Given the description of an element on the screen output the (x, y) to click on. 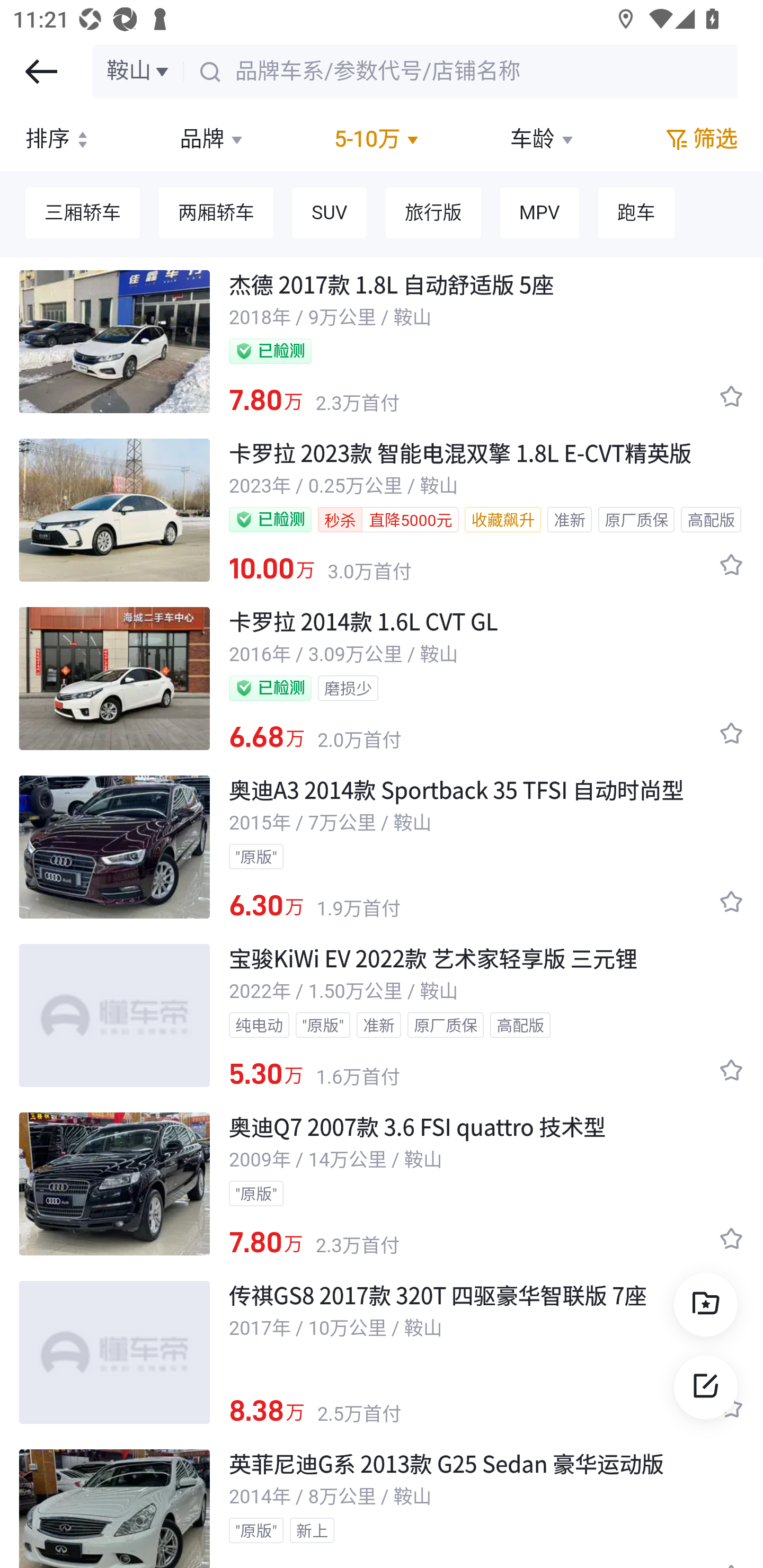
鞍山 (139, 70)
排序 (59, 139)
品牌 (213, 139)
5-10万 (378, 139)
车龄 (542, 139)
筛选 (700, 139)
三厢轿车 (83, 213)
两厢轿车 (216, 213)
SUV (329, 213)
旅行版 (432, 213)
MPV (539, 213)
跑车 (636, 213)
